Given the description of an element on the screen output the (x, y) to click on. 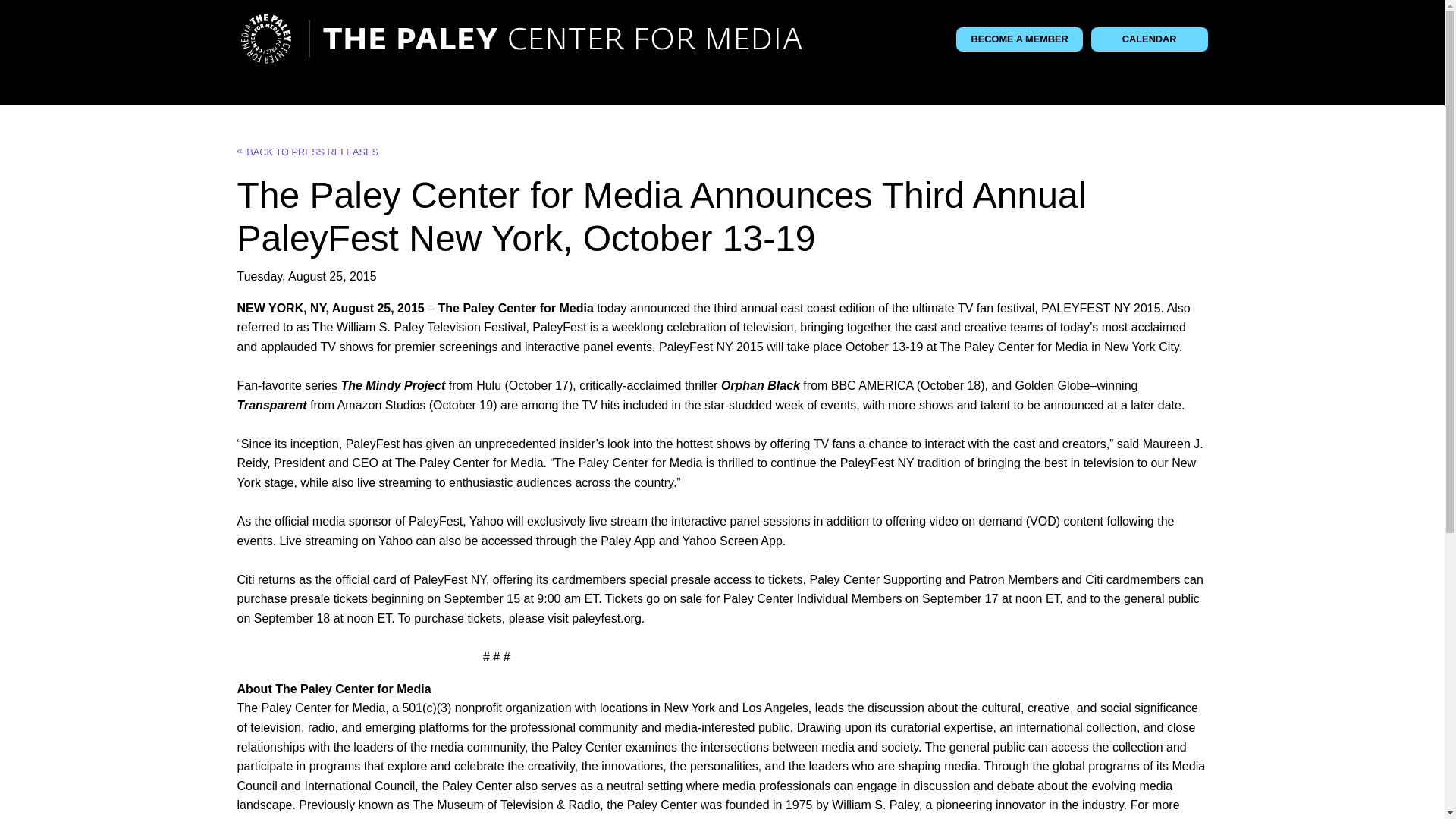
BECOME A MEMBER (1019, 39)
The Paley Center for Media (520, 38)
CALENDAR (1149, 39)
BACK TO PRESS RELEASES (306, 152)
